Given the description of an element on the screen output the (x, y) to click on. 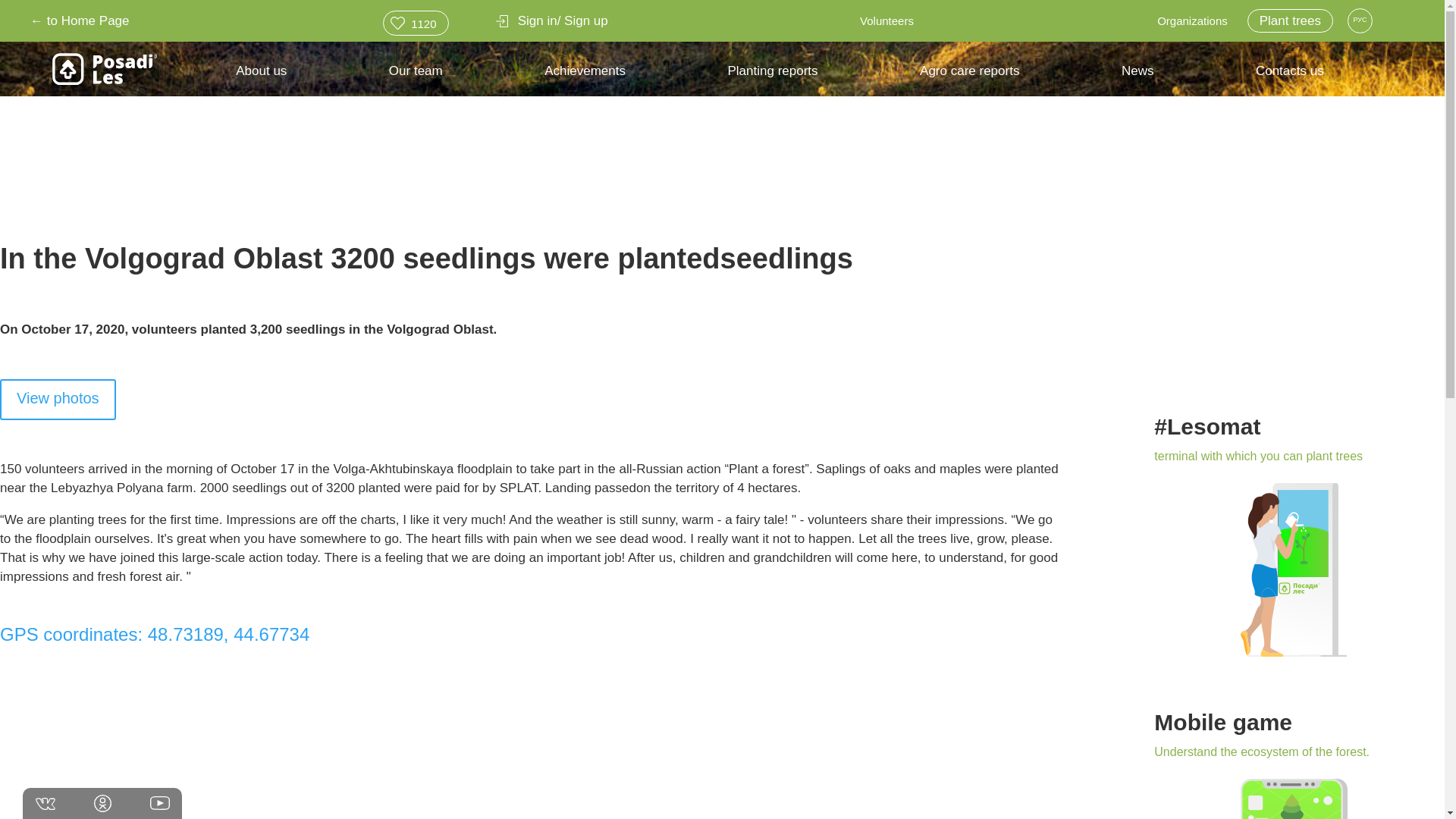
Organizations (1192, 20)
1120 (415, 23)
Agro care reports (969, 78)
Our team (415, 78)
About us (260, 78)
Achievements (585, 78)
News (1137, 78)
GPS coordinates: 48.73189, 44.67734 (154, 637)
Volunteers (886, 20)
Contacts us (1289, 78)
